Given the description of an element on the screen output the (x, y) to click on. 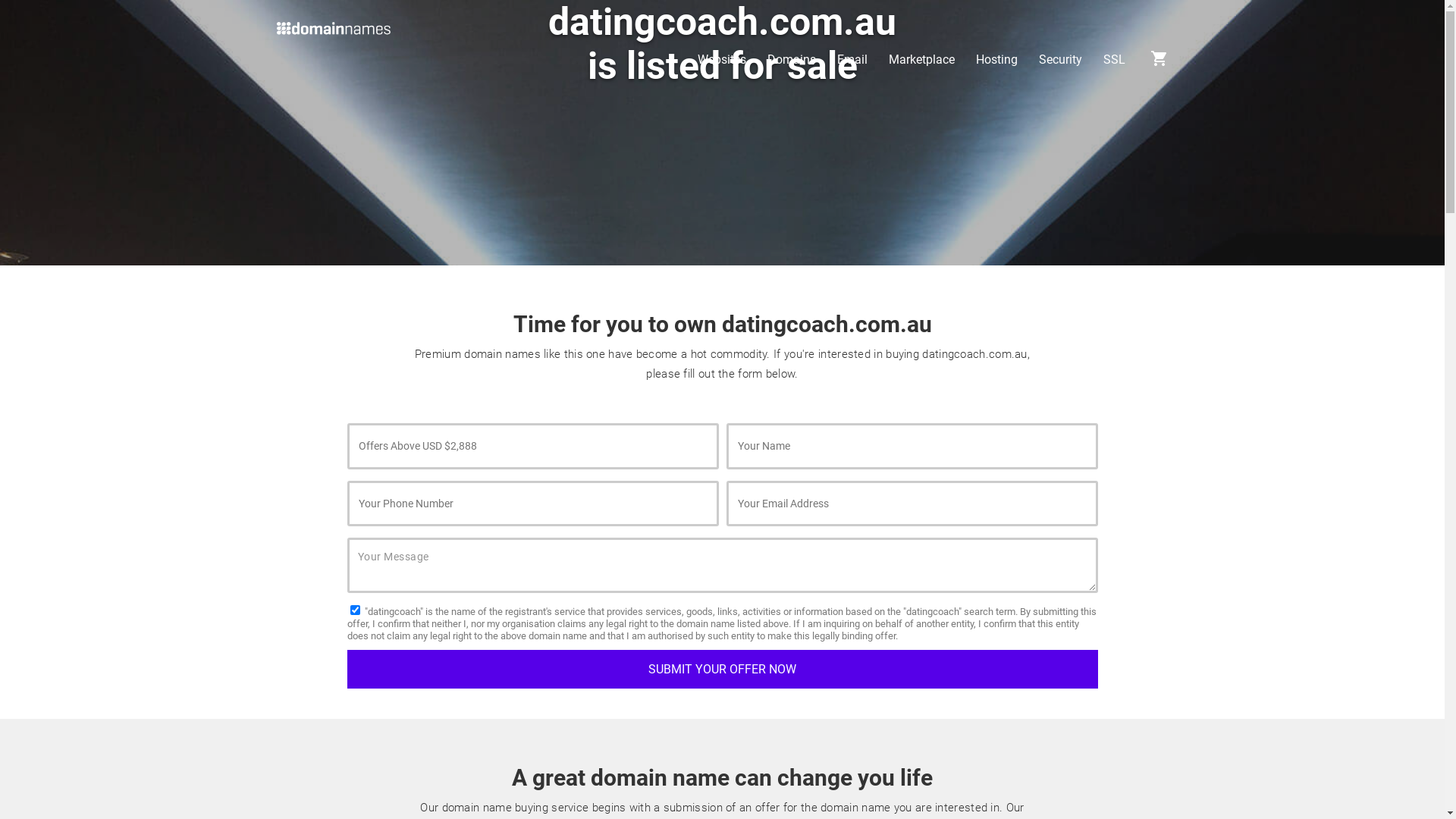
Marketplace Element type: text (921, 59)
Email Element type: text (852, 59)
SSL Element type: text (1113, 59)
Websites Element type: text (721, 59)
Security Element type: text (1060, 59)
Domains Element type: text (791, 59)
shopping_cart Element type: text (1158, 63)
Hosting Element type: text (996, 59)
Submit your offer now Element type: text (722, 668)
